Given the description of an element on the screen output the (x, y) to click on. 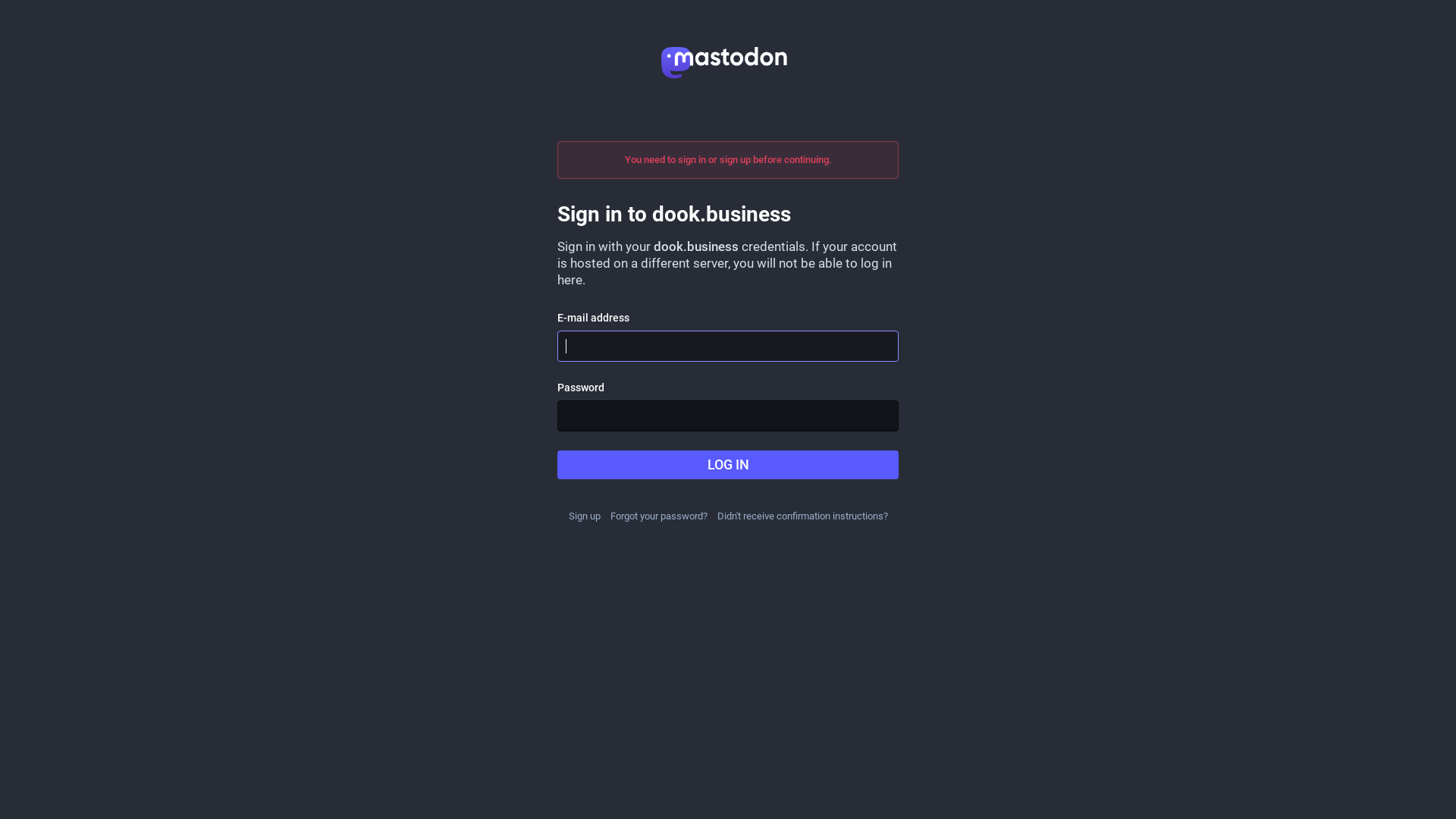
Didn't receive confirmation instructions? Element type: text (802, 515)
LOG IN Element type: text (727, 464)
Forgot your password? Element type: text (657, 515)
Sign up Element type: text (584, 515)
